Given the description of an element on the screen output the (x, y) to click on. 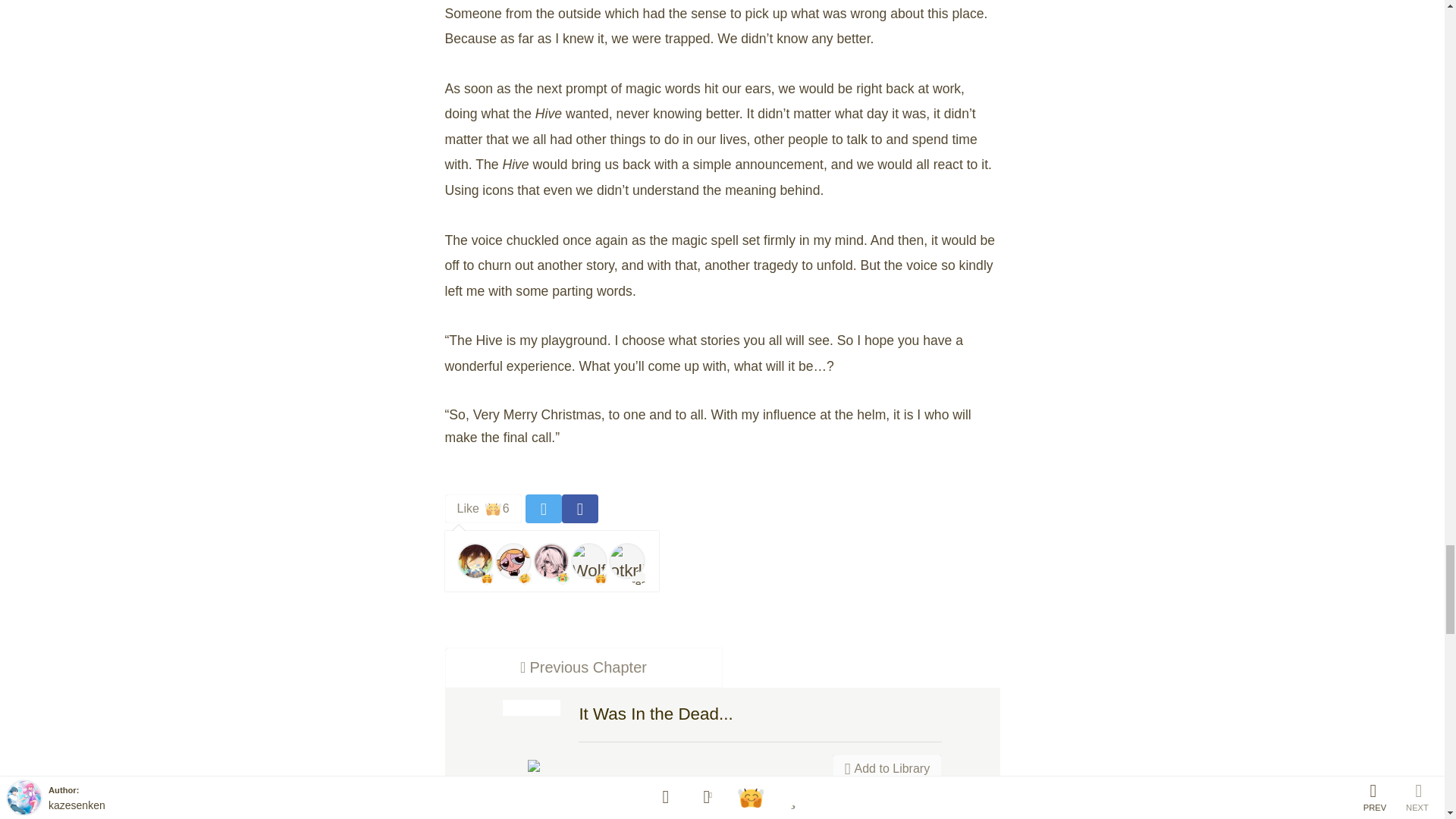
otkrlj (626, 560)
Add to Library (887, 768)
Bubbles (513, 560)
BlipXP (550, 560)
It Was In the Dead... (583, 667)
Ayenne (655, 713)
Like6 (475, 560)
Wolfy (482, 508)
